Given the description of an element on the screen output the (x, y) to click on. 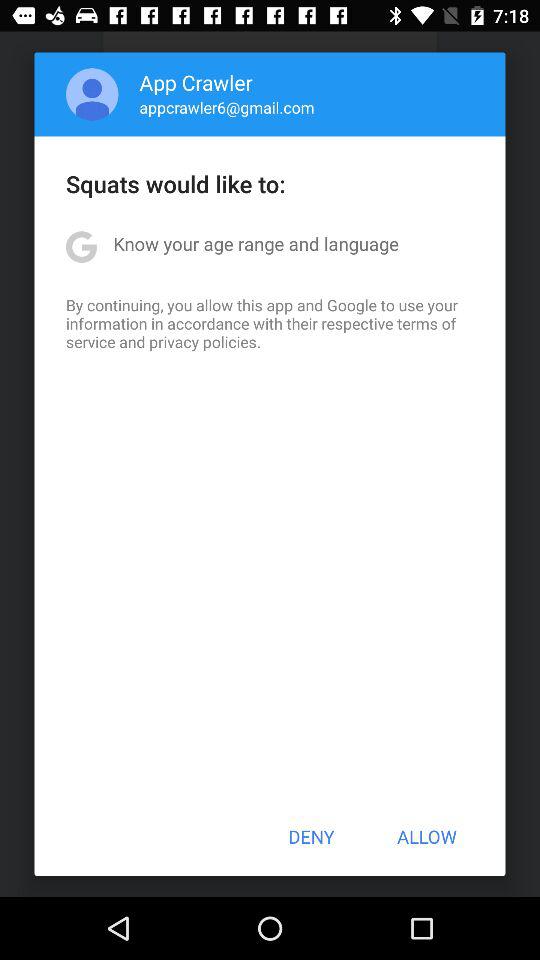
click the app below app crawler (226, 107)
